Given the description of an element on the screen output the (x, y) to click on. 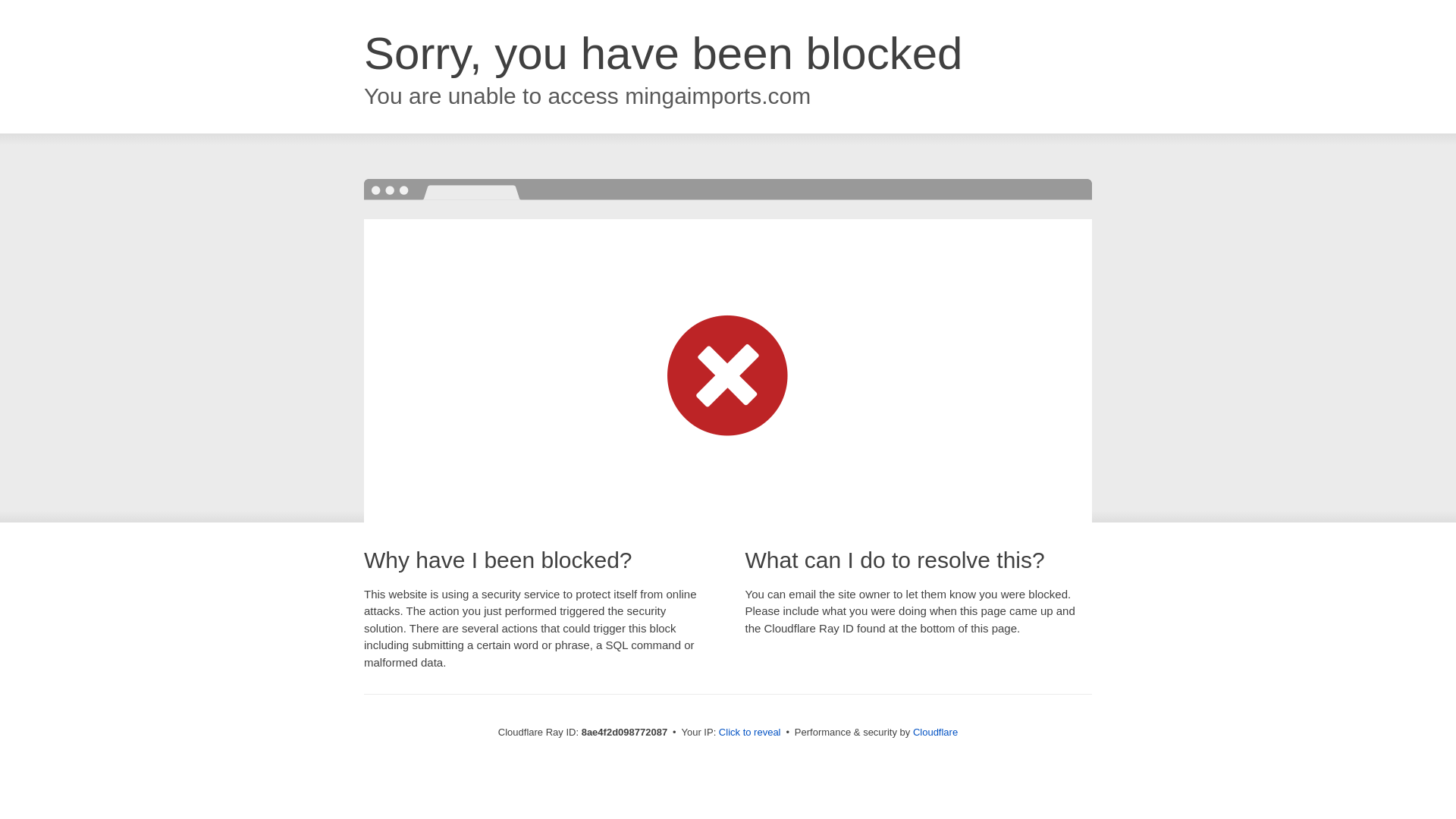
Cloudflare (935, 731)
Click to reveal (749, 732)
